Given the description of an element on the screen output the (x, y) to click on. 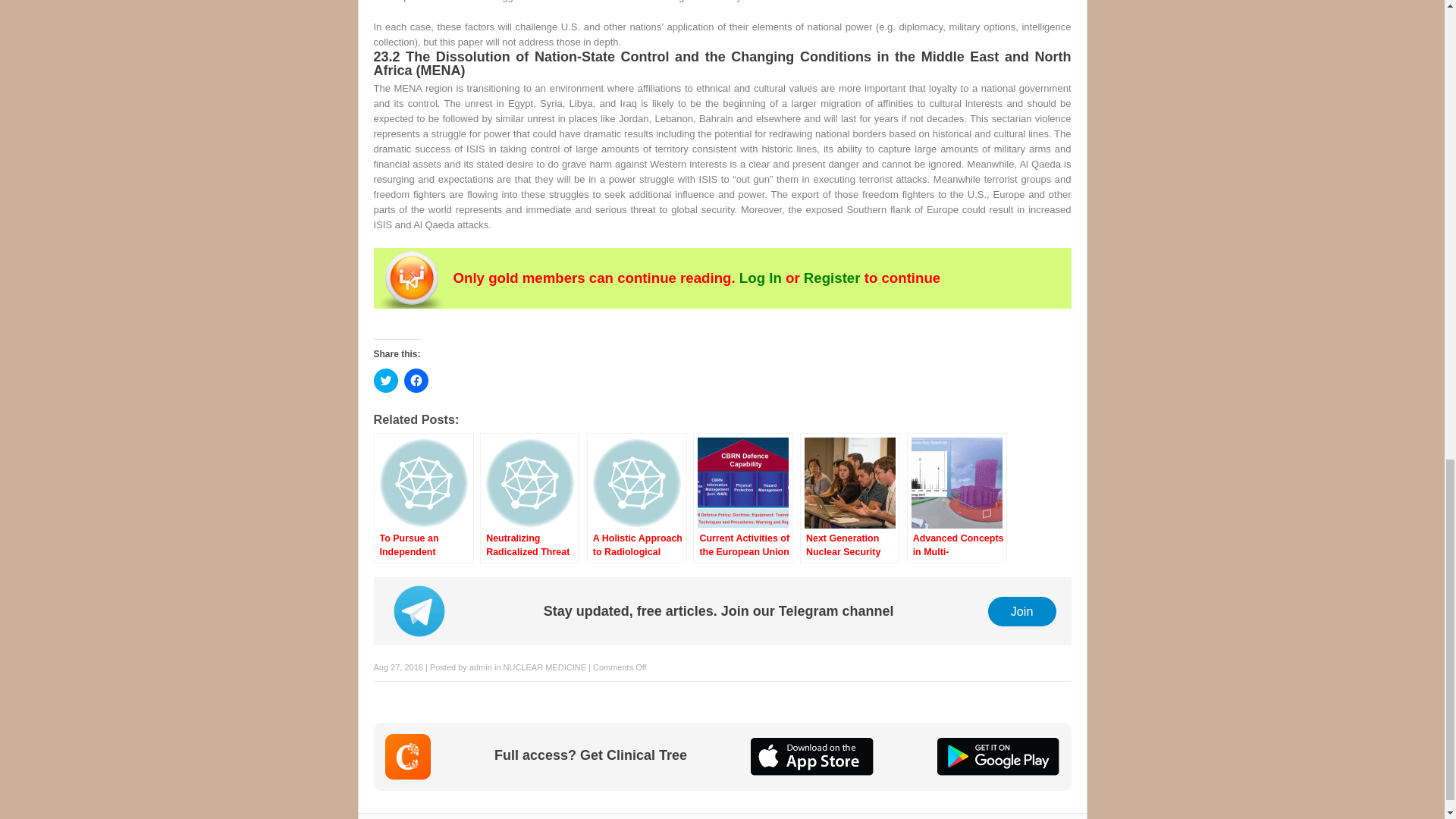
Posts by admin (480, 666)
Click to share on Facebook (415, 380)
Click to share on Twitter (384, 380)
